Given the description of an element on the screen output the (x, y) to click on. 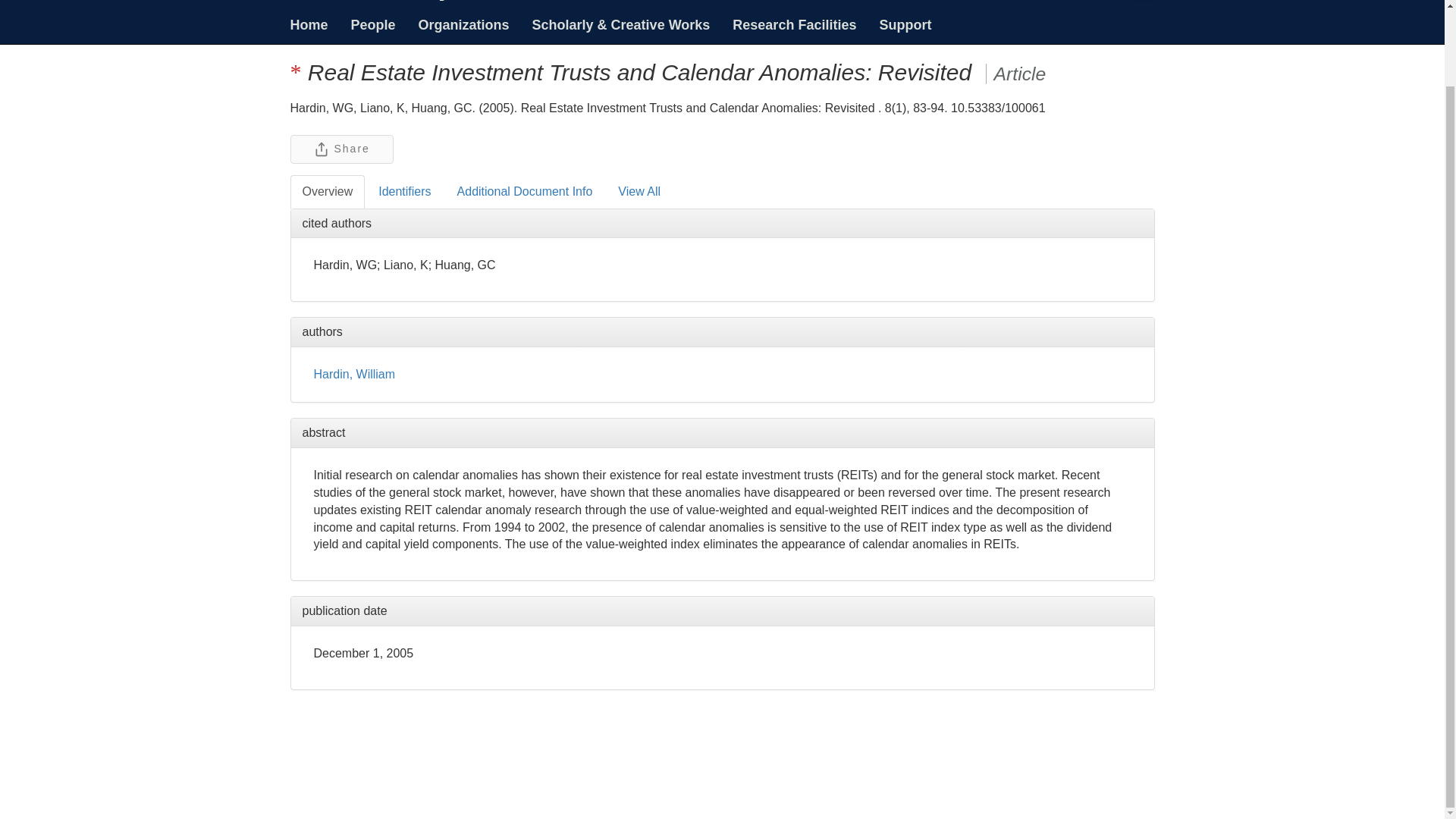
Overview (327, 192)
Hardin, William (355, 373)
author name (355, 373)
People menu item (373, 24)
Identifiers (404, 192)
People (373, 24)
Research Facilities (793, 24)
Support (904, 24)
Research Facilities menu item (793, 24)
Share (341, 149)
